Given the description of an element on the screen output the (x, y) to click on. 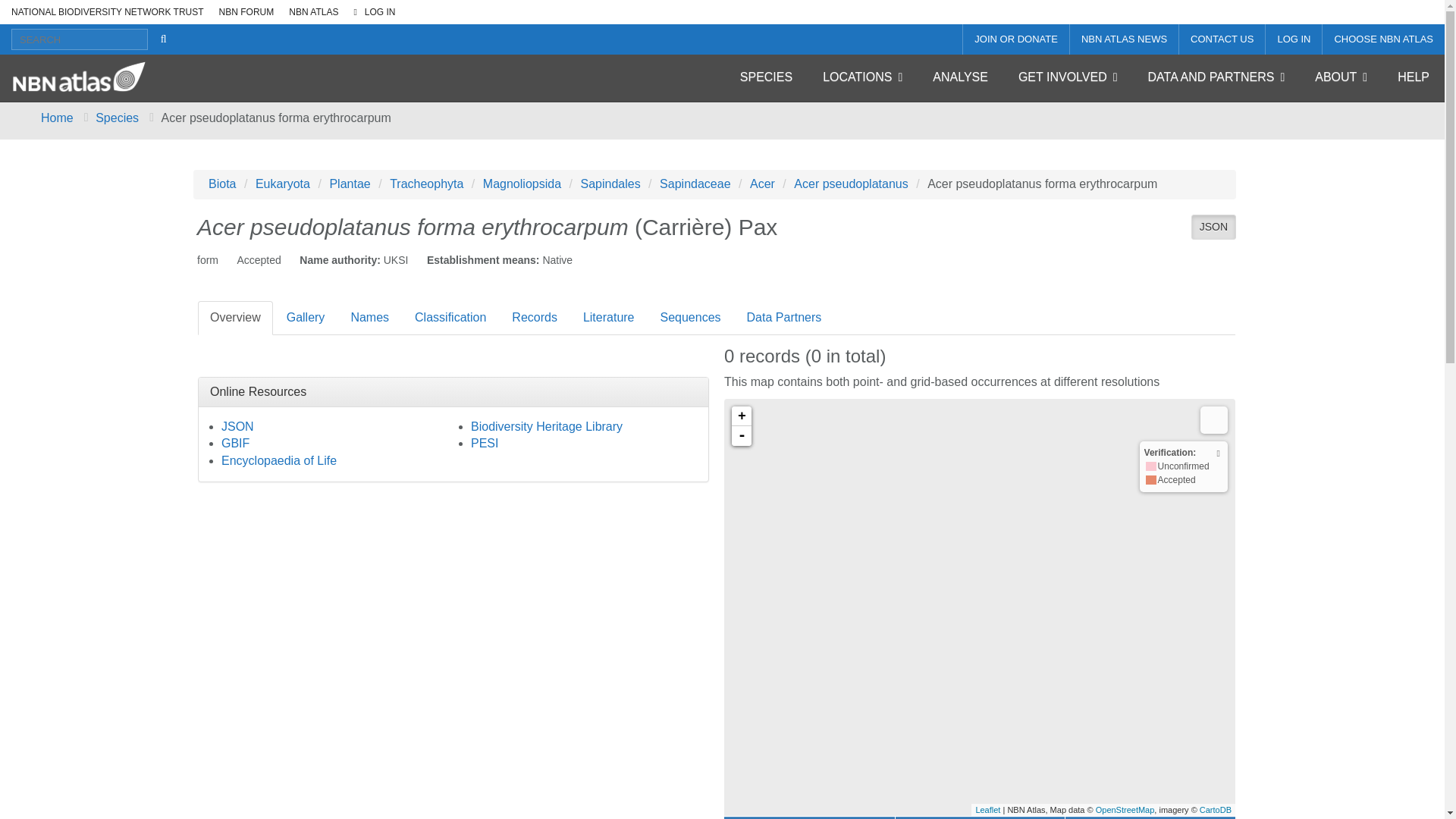
LOG IN (1293, 39)
ABOUT (1340, 76)
SPECIES (766, 76)
A JS library for interactive maps (987, 809)
JOIN OR DONATE (1015, 39)
Zoom out (741, 435)
Search (79, 38)
NATIONAL BIODIVERSITY NETWORK TRUST (104, 12)
NBN ATLAS NEWS (1123, 39)
NBN FORUM (243, 12)
NBN ATLAS (310, 12)
DATA AND PARTNERS (1216, 76)
Layers (1213, 420)
View a simple map of the records for this taxon (980, 817)
Zoom in (741, 415)
